Given the description of an element on the screen output the (x, y) to click on. 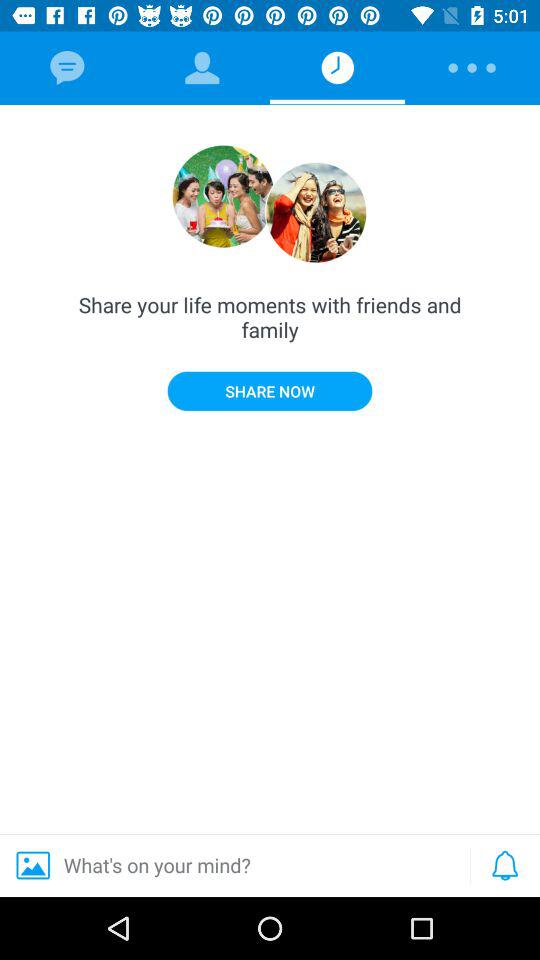
open item above the what s on (269, 390)
